Given the description of an element on the screen output the (x, y) to click on. 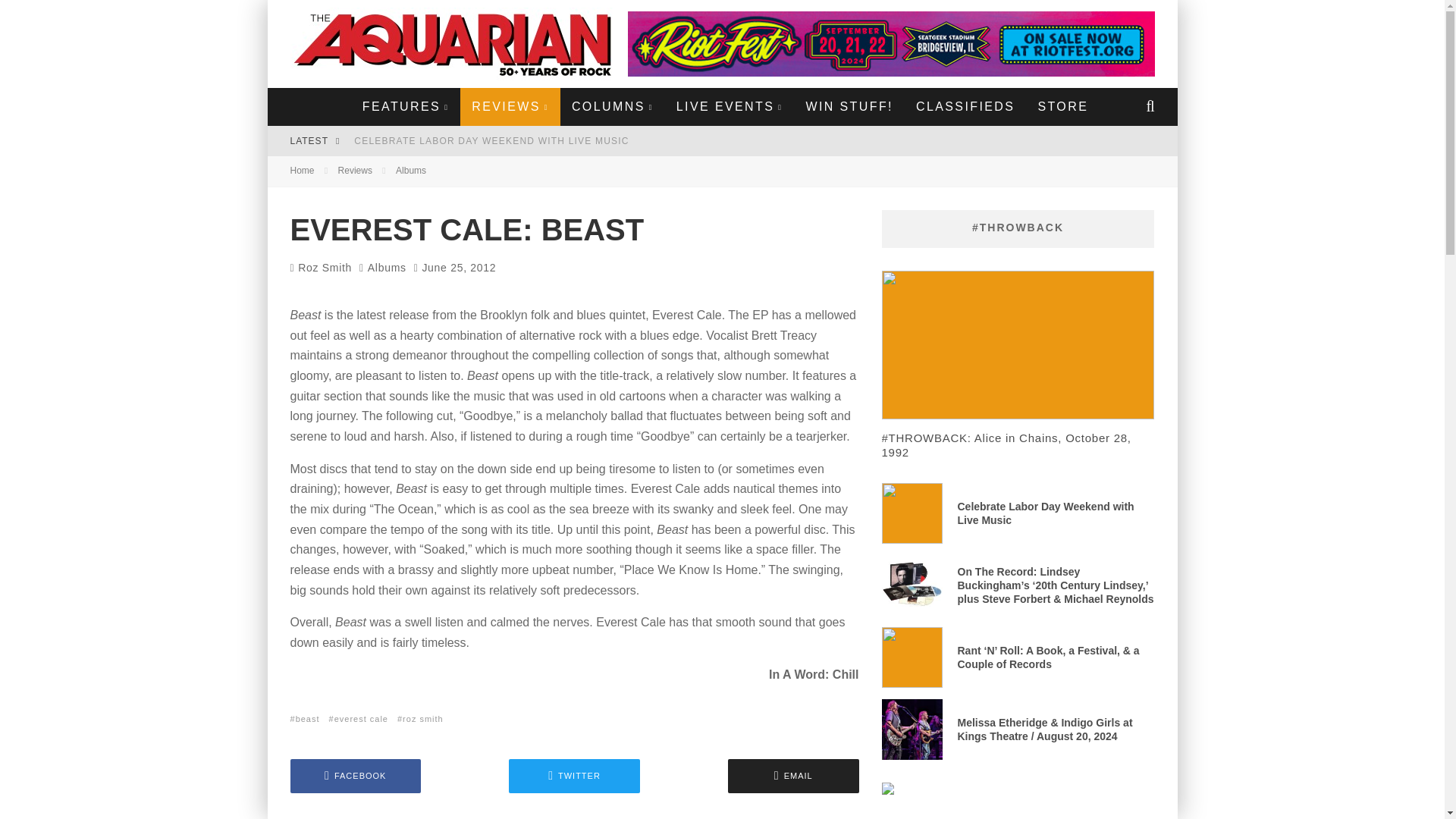
REVIEWS (510, 106)
COLUMNS (612, 106)
Celebrate Labor Day Weekend with Live Music (490, 140)
FEATURES (405, 106)
